Given the description of an element on the screen output the (x, y) to click on. 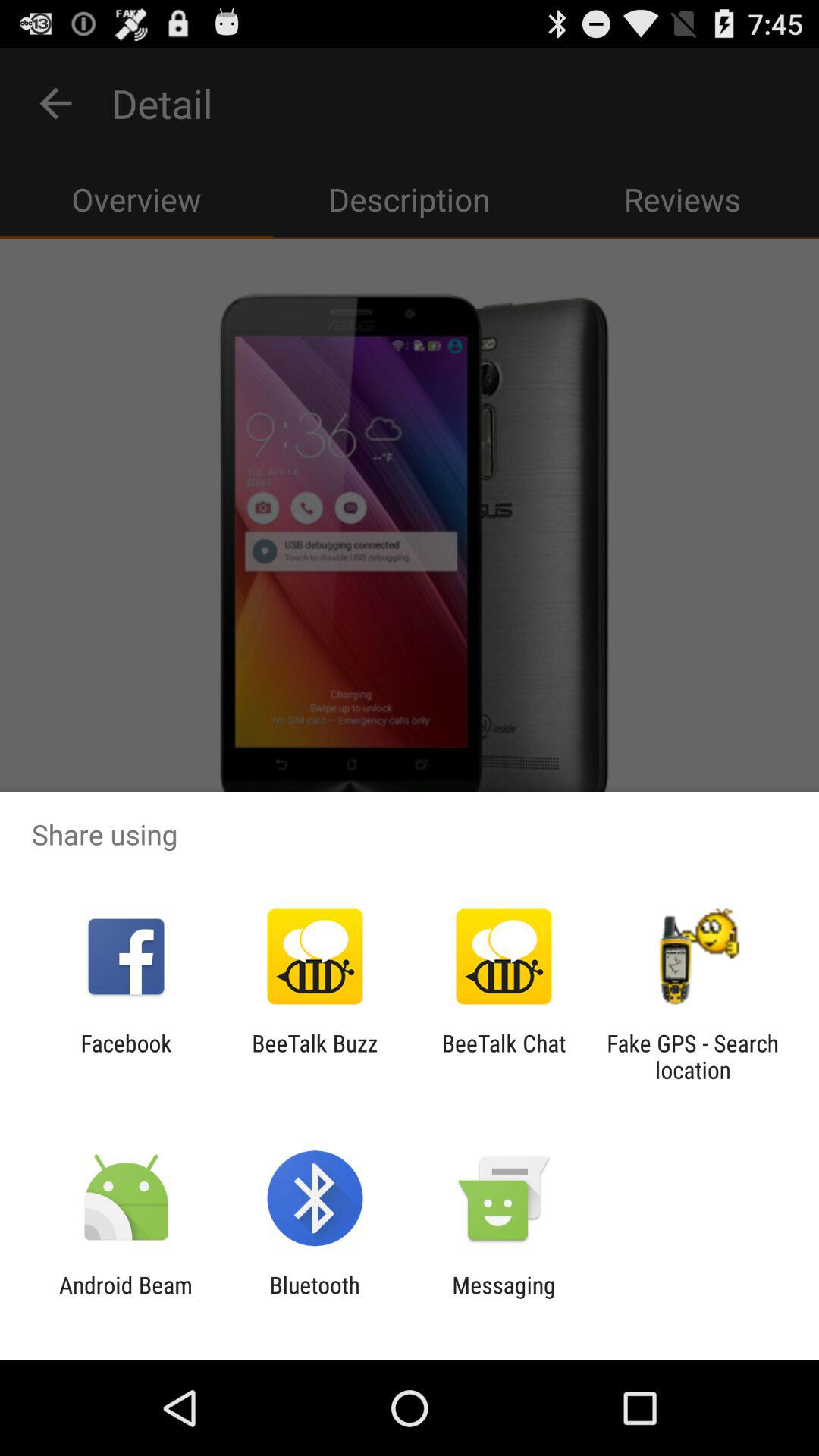
open the icon next to the beetalk buzz app (125, 1056)
